Given the description of an element on the screen output the (x, y) to click on. 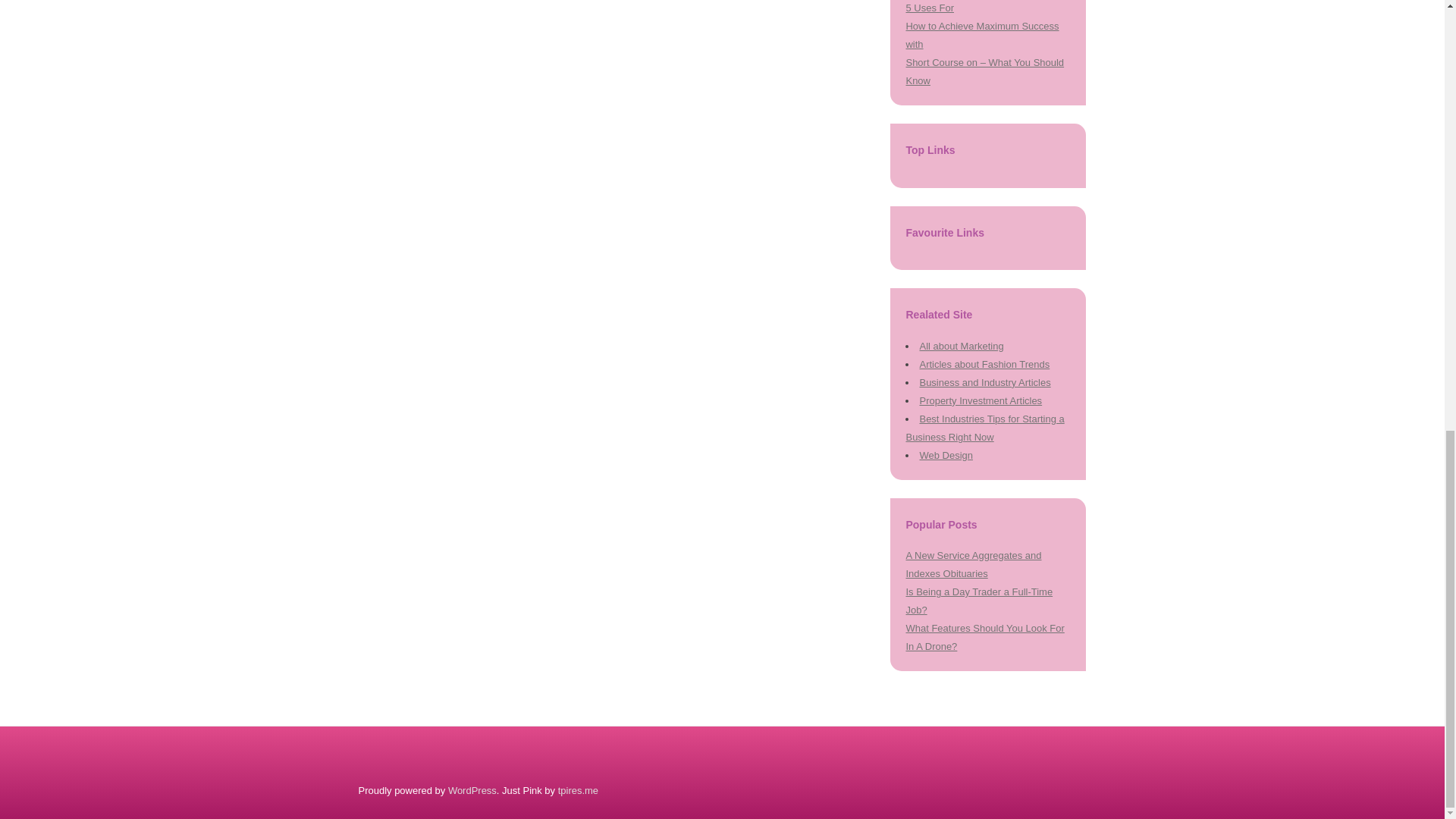
A New Service Aggregates and Indexes Obituaries (973, 564)
Semantic Personal Publishing Platform (472, 790)
What Features Should You Look For In A Drone? (984, 636)
Is Being a Day Trader a Full-Time Job? (978, 600)
